Given the description of an element on the screen output the (x, y) to click on. 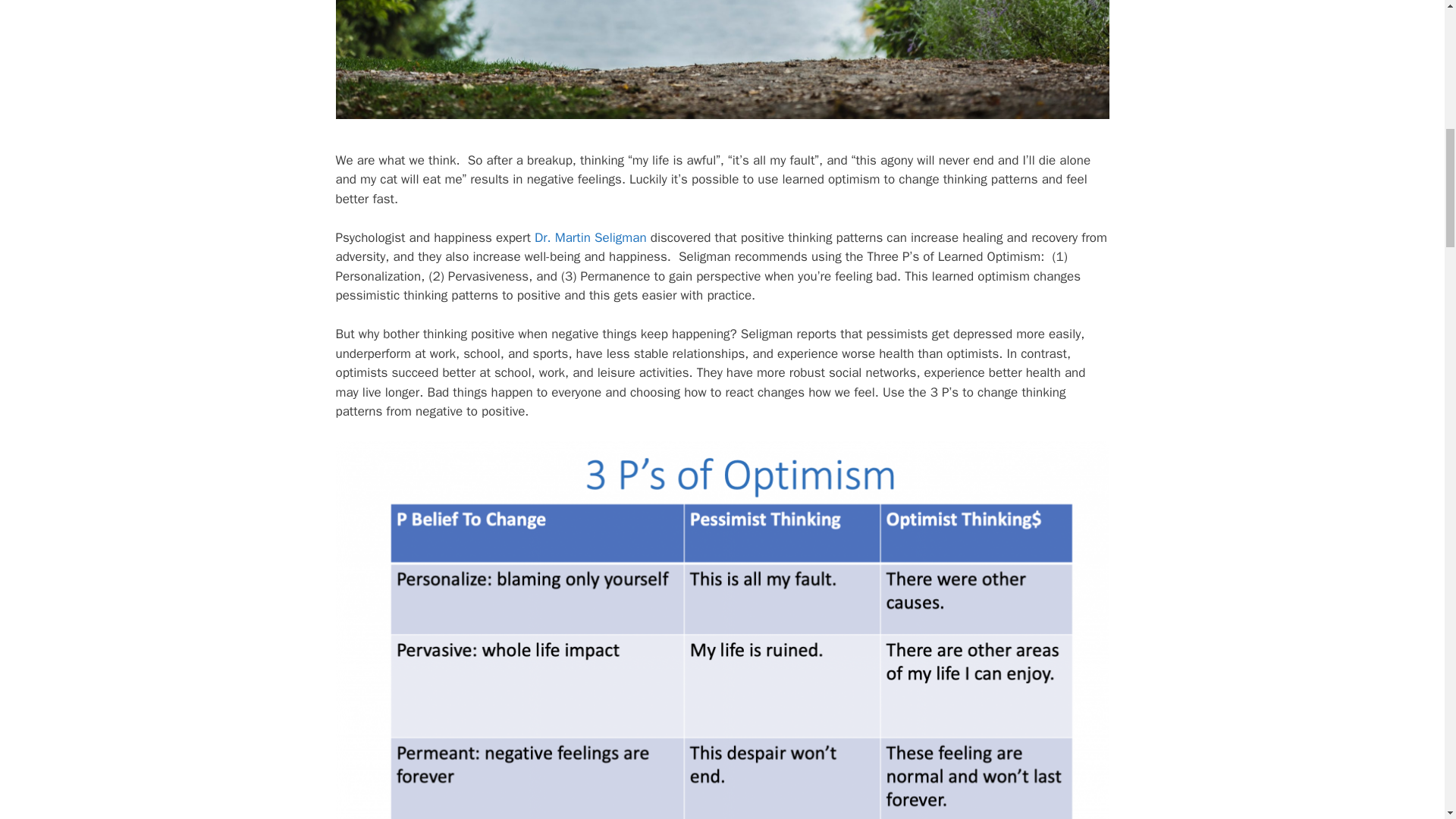
Dr. Martin Seligman (590, 237)
